Given the description of an element on the screen output the (x, y) to click on. 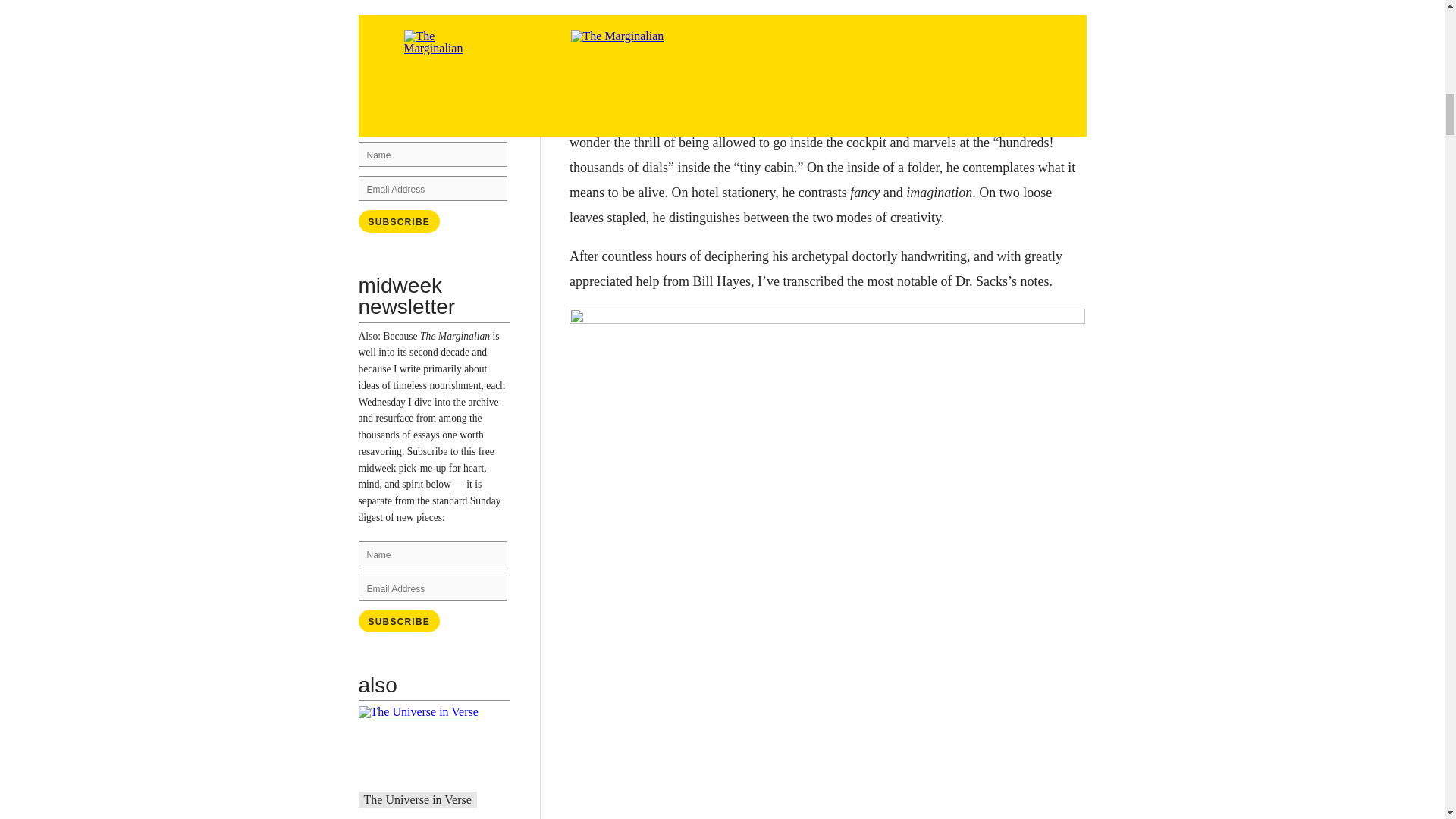
Subscribe (398, 620)
Subscribe (398, 220)
Subscribe (398, 220)
The Universe in Verse (417, 799)
Subscribe (398, 620)
example (449, 101)
